Given the description of an element on the screen output the (x, y) to click on. 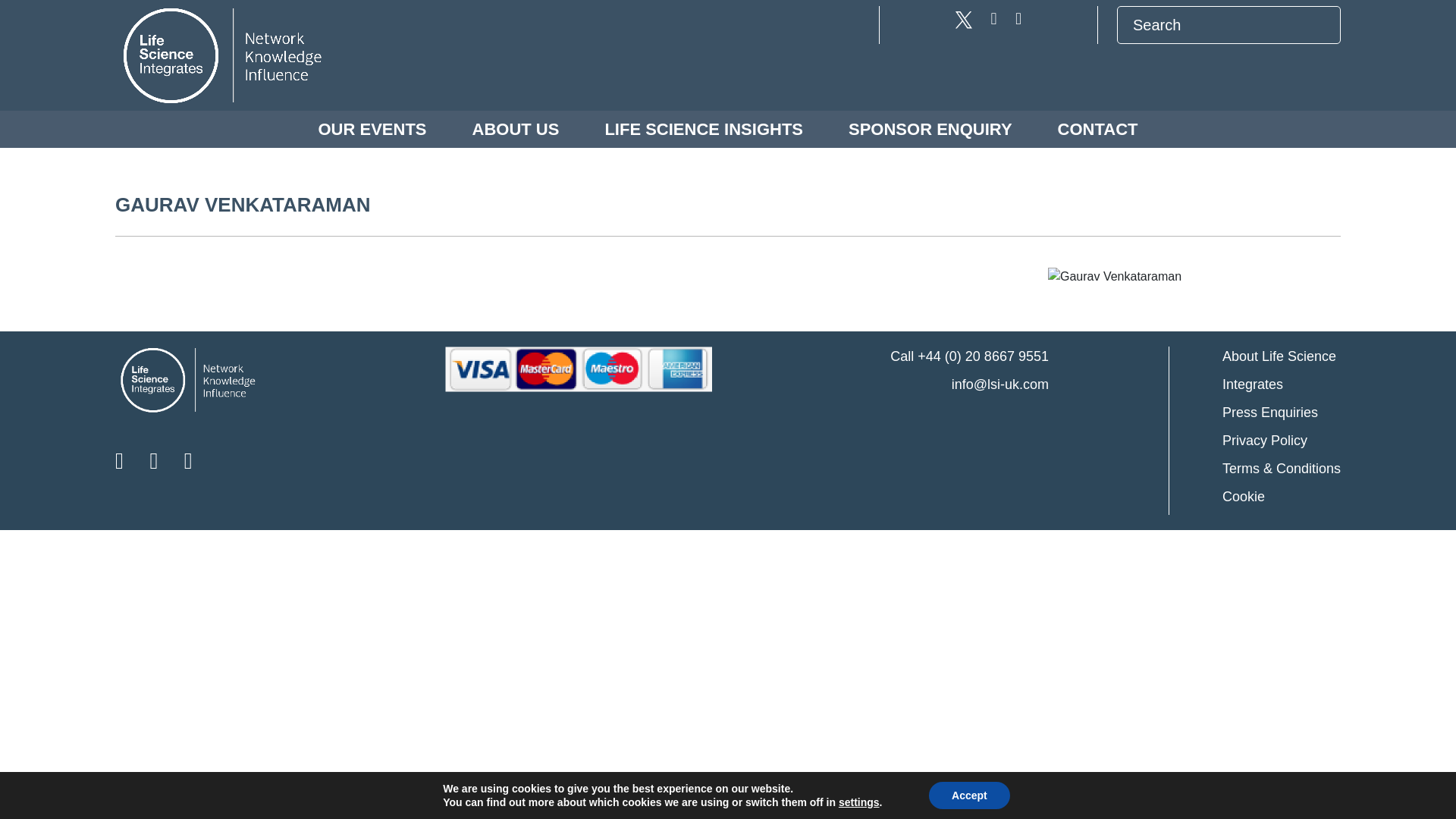
CONTACT (1098, 129)
Integrates (1281, 384)
Press Enquiries (1281, 412)
SPONSOR ENQUIRY (929, 129)
About Life Science (1281, 356)
LIFE SCIENCE INSIGHTS (703, 129)
Cookie (1281, 496)
Privacy Policy (1281, 440)
ABOUT US (515, 129)
OUR EVENTS (372, 129)
